Given the description of an element on the screen output the (x, y) to click on. 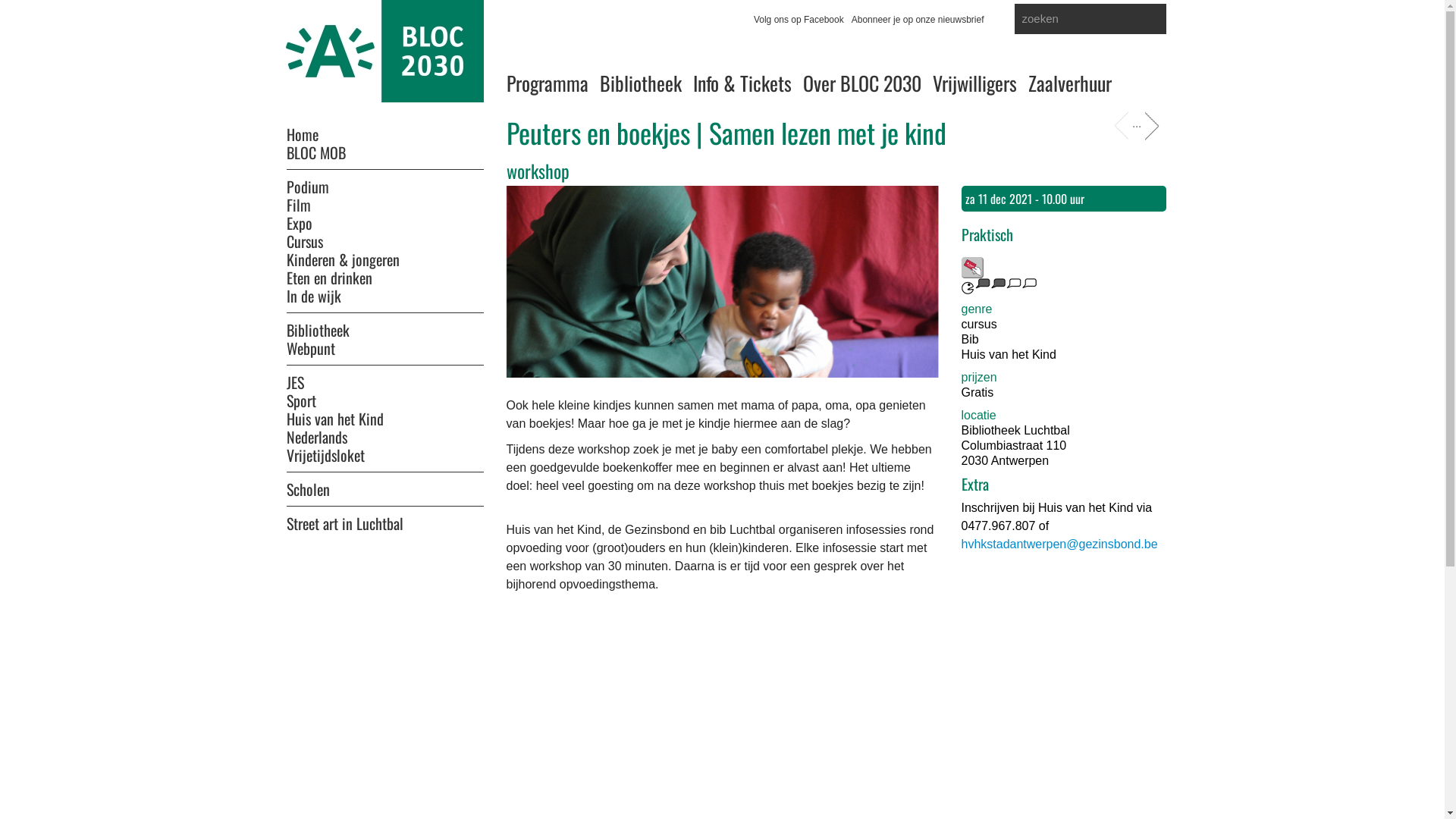
Film Element type: text (298, 204)
Huis van het Kind Element type: text (334, 418)
Programma Element type: text (547, 82)
BLOC MOB Element type: text (315, 152)
a-kaart Element type: hover (972, 267)
Bibliotheek Luchtbal
Columbiastraat 110
2030 Antwerpen Element type: text (1063, 445)
Podium Element type: text (384, 182)
In de wijk Element type: text (313, 295)
Eten en drinken Element type: text (329, 277)
Info & Tickets Element type: text (742, 82)
naar volgende voorstelling Element type: text (1150, 125)
JES Element type: text (384, 377)
Street art in Luchtbal Element type: text (384, 518)
Vrijwilligers Element type: text (974, 82)
Bib Element type: text (970, 338)
hvhkstadantwerpen@gezinsbond.be Element type: text (1059, 543)
Vrijetijdsloket Element type: text (325, 454)
Over BLOC 2030 Element type: text (861, 82)
cursus Element type: text (979, 323)
Sport Element type: text (301, 400)
Huis van het Kind Element type: text (1008, 354)
naar vorige voorstelling Element type: text (1122, 125)
Nederlands Element type: text (316, 436)
naar lijst Element type: text (1136, 125)
Webpunt Element type: text (310, 347)
Expo Element type: text (299, 222)
Kinderen & jongeren Element type: text (342, 258)
Volg ons op Facebook Element type: text (798, 19)
Abonneer je op onze nieuwsbrief Element type: text (917, 19)
Home Element type: text (302, 133)
Bibliotheek Element type: text (384, 325)
Zaalverhuur Element type: text (1069, 82)
Bibliotheek Element type: text (639, 82)
Cursus Element type: text (304, 240)
Scholen Element type: text (384, 484)
Je begrijpt al een beetje Nederlands. Element type: hover (998, 286)
